Given the description of an element on the screen output the (x, y) to click on. 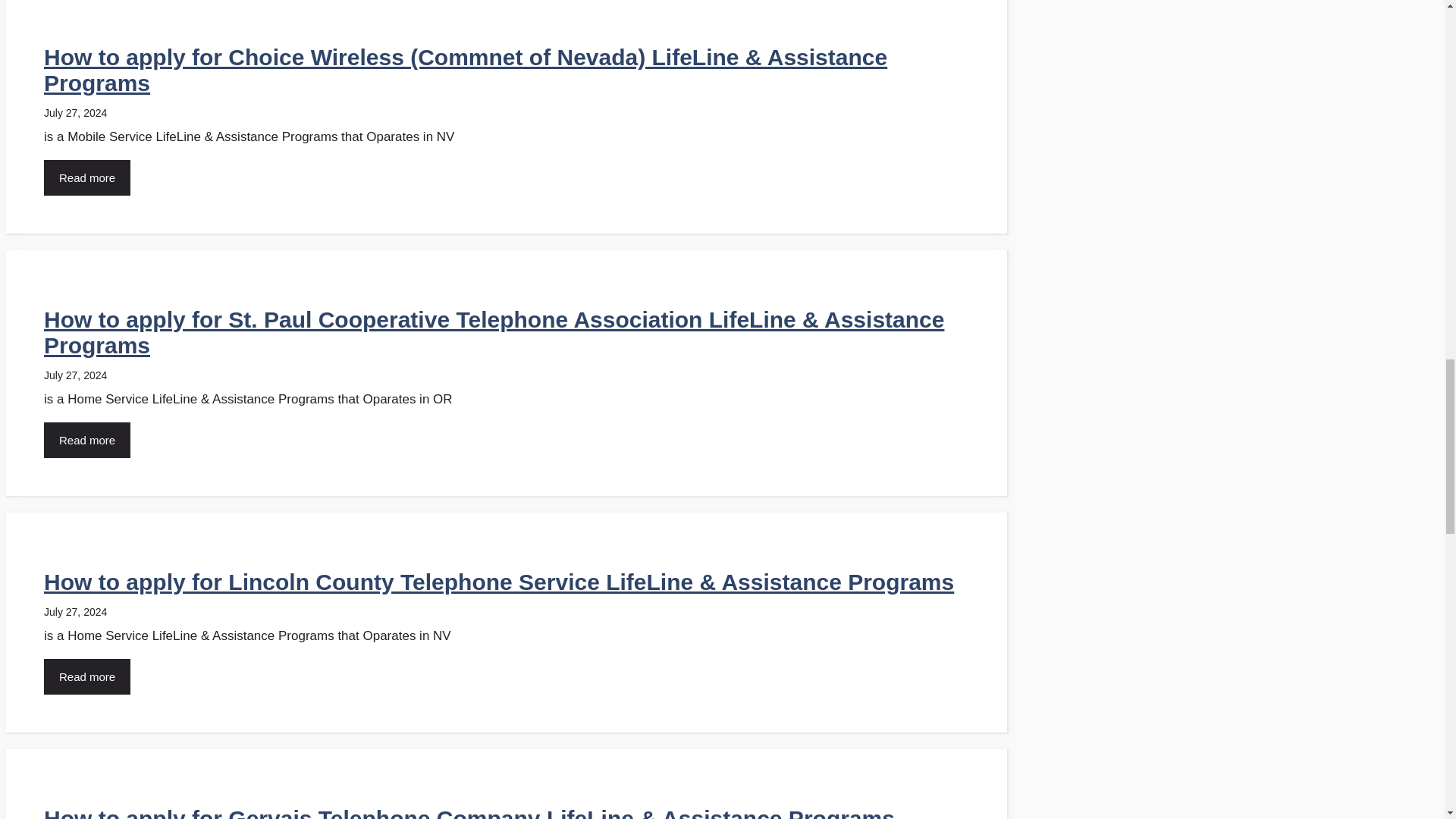
Read more (87, 676)
Read more (87, 177)
Read more (87, 439)
